Given the description of an element on the screen output the (x, y) to click on. 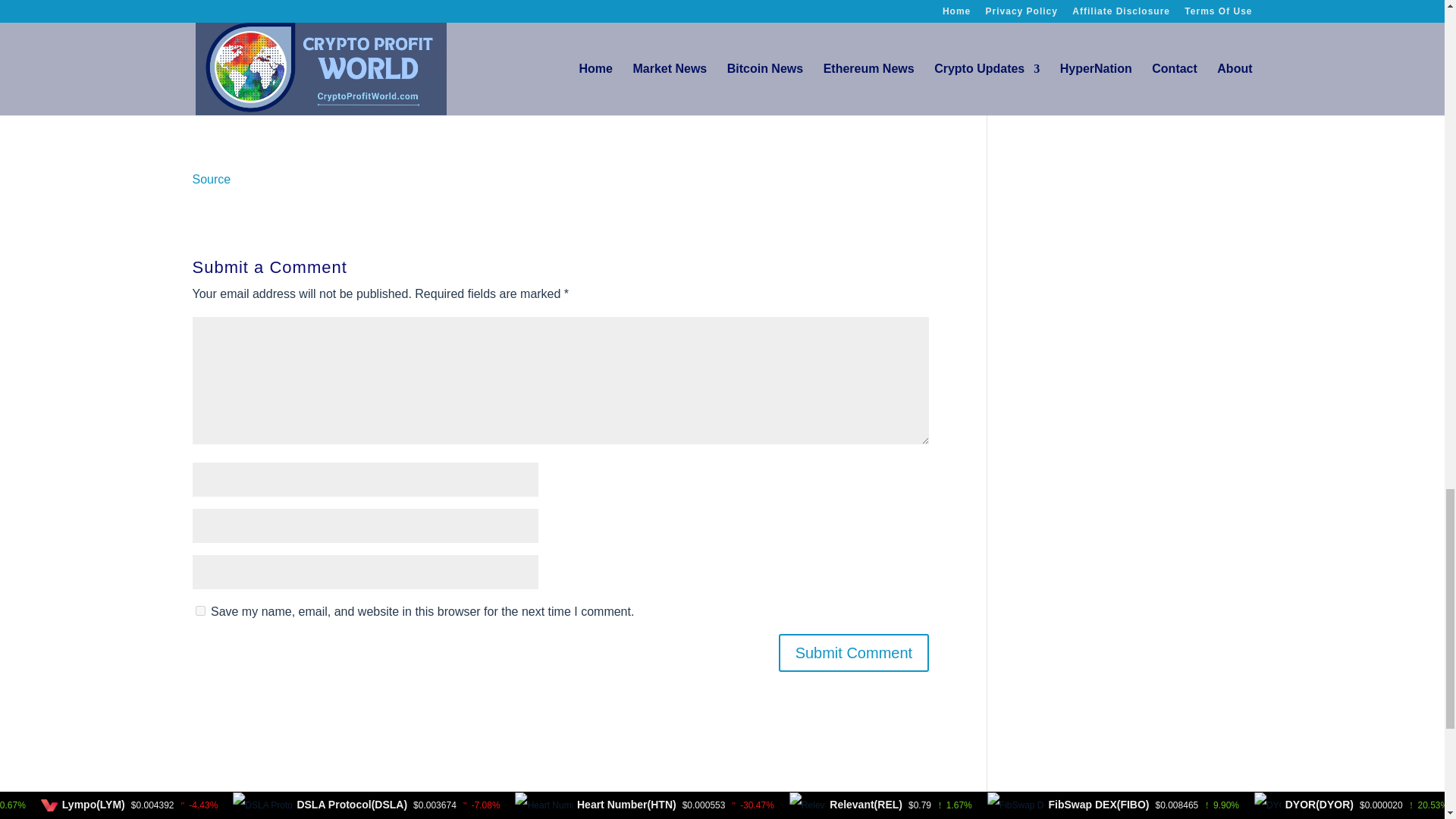
yes (200, 610)
Submit Comment (854, 652)
